Given the description of an element on the screen output the (x, y) to click on. 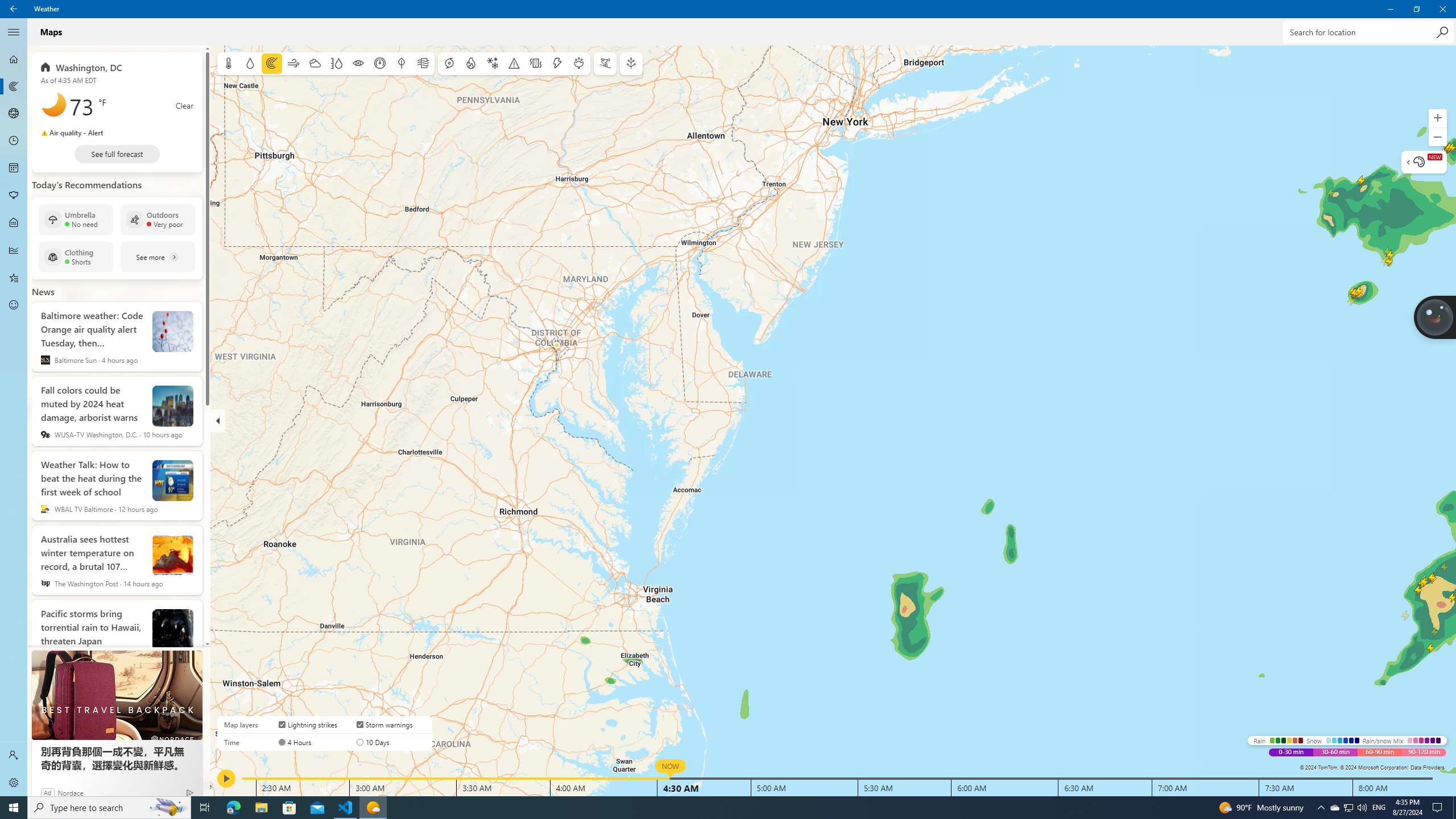
Pollen - Not Selected (13, 195)
Life - Not Selected (13, 222)
Hourly Forecast - Not Selected (13, 140)
Send Feedback - Not Selected (13, 304)
Hourly Forecast - Not Selected (13, 140)
